Given the description of an element on the screen output the (x, y) to click on. 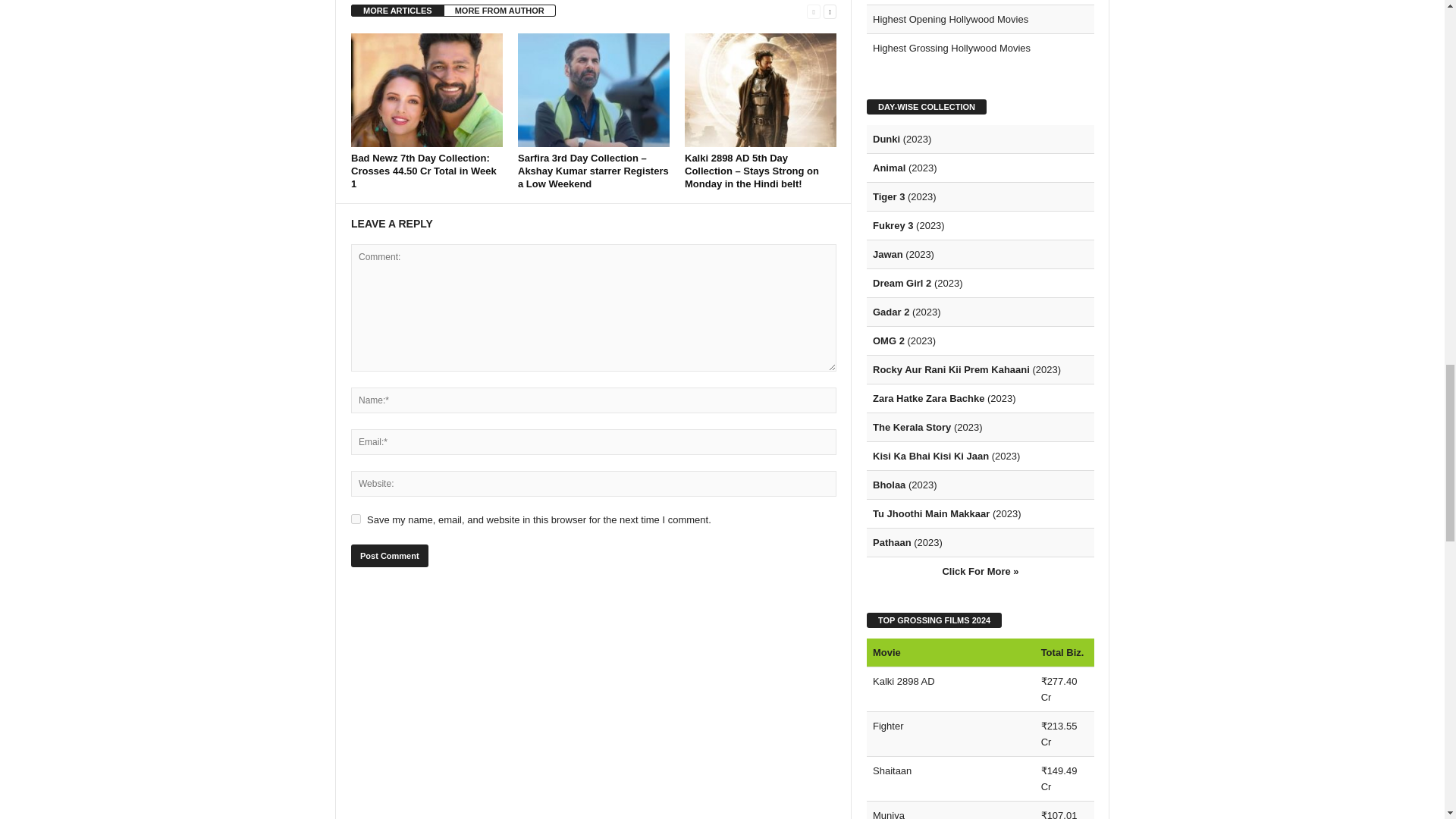
yes (355, 519)
Post Comment (389, 555)
